Given the description of an element on the screen output the (x, y) to click on. 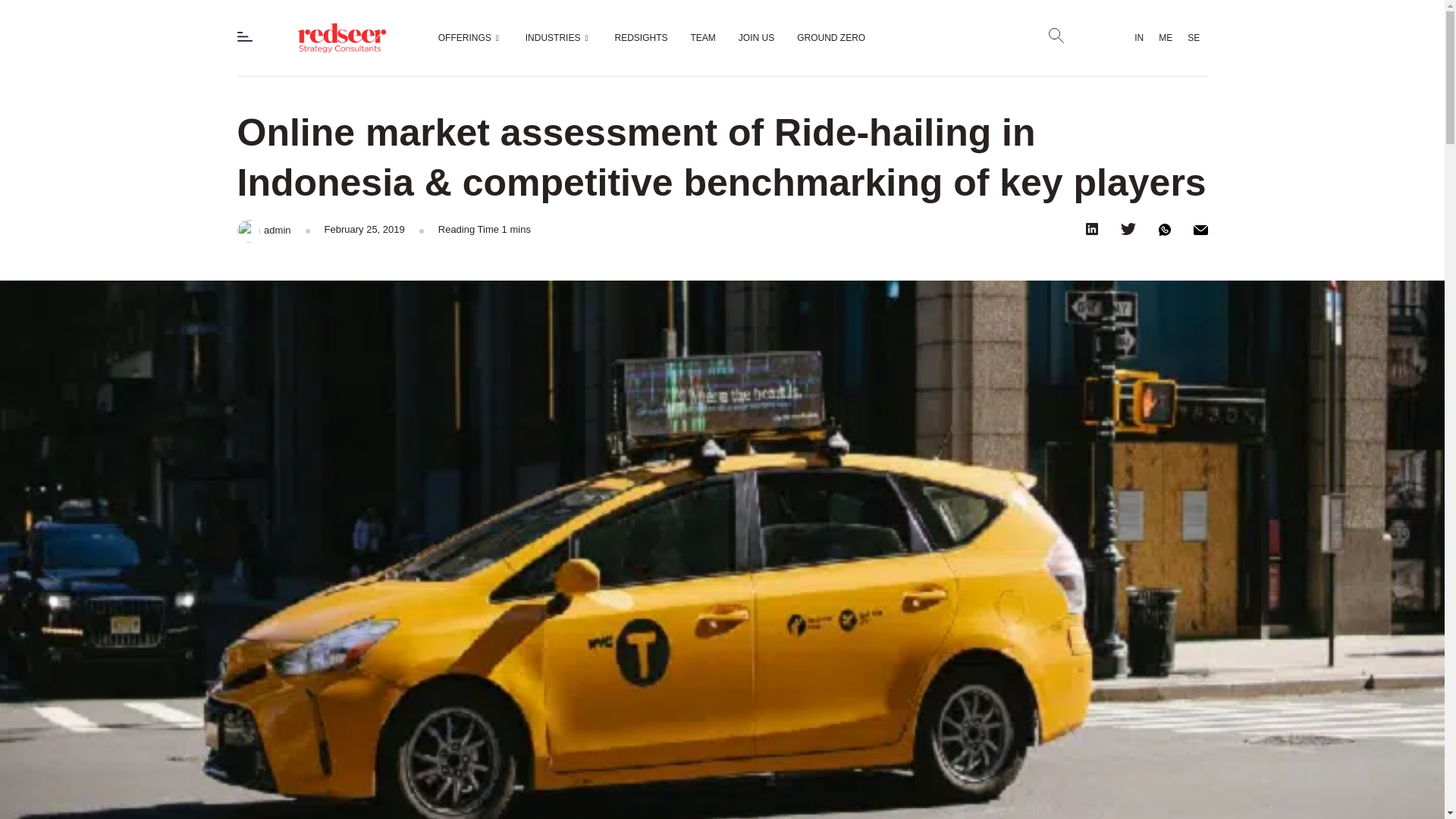
INDUSTRIES (558, 37)
ME (1165, 37)
GROUND ZERO (831, 37)
OFFERINGS (469, 37)
REDSIGHTS (641, 37)
JOIN US (756, 37)
